Given the description of an element on the screen output the (x, y) to click on. 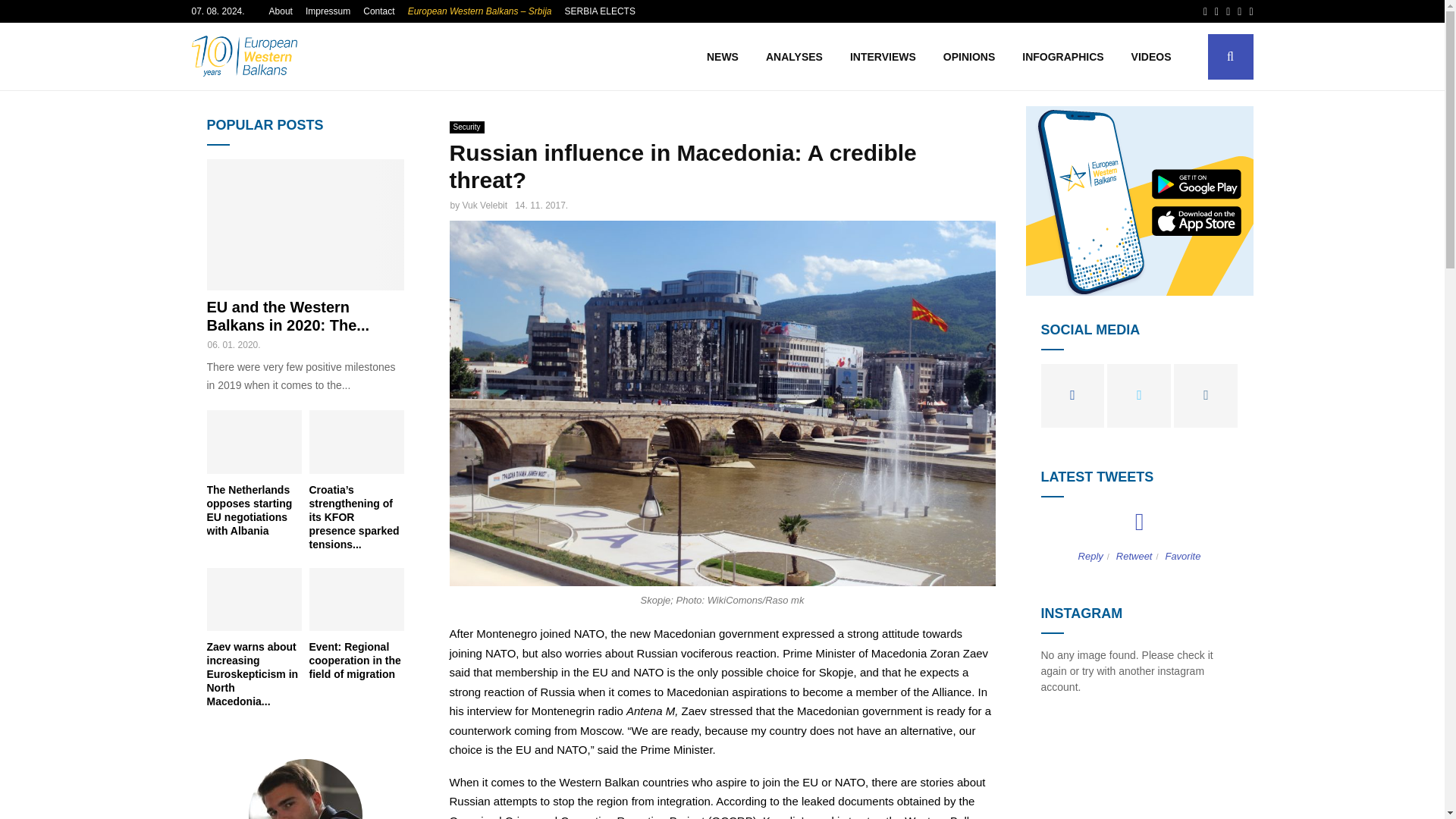
OPINIONS (969, 56)
NEWS (722, 56)
INTERVIEWS (882, 56)
INFOGRAPHICS (1062, 56)
VIDEOS (1151, 56)
Security (465, 127)
ANALYSES (793, 56)
SERBIA ELECTS (599, 11)
Contact (378, 11)
About (280, 11)
